Given the description of an element on the screen output the (x, y) to click on. 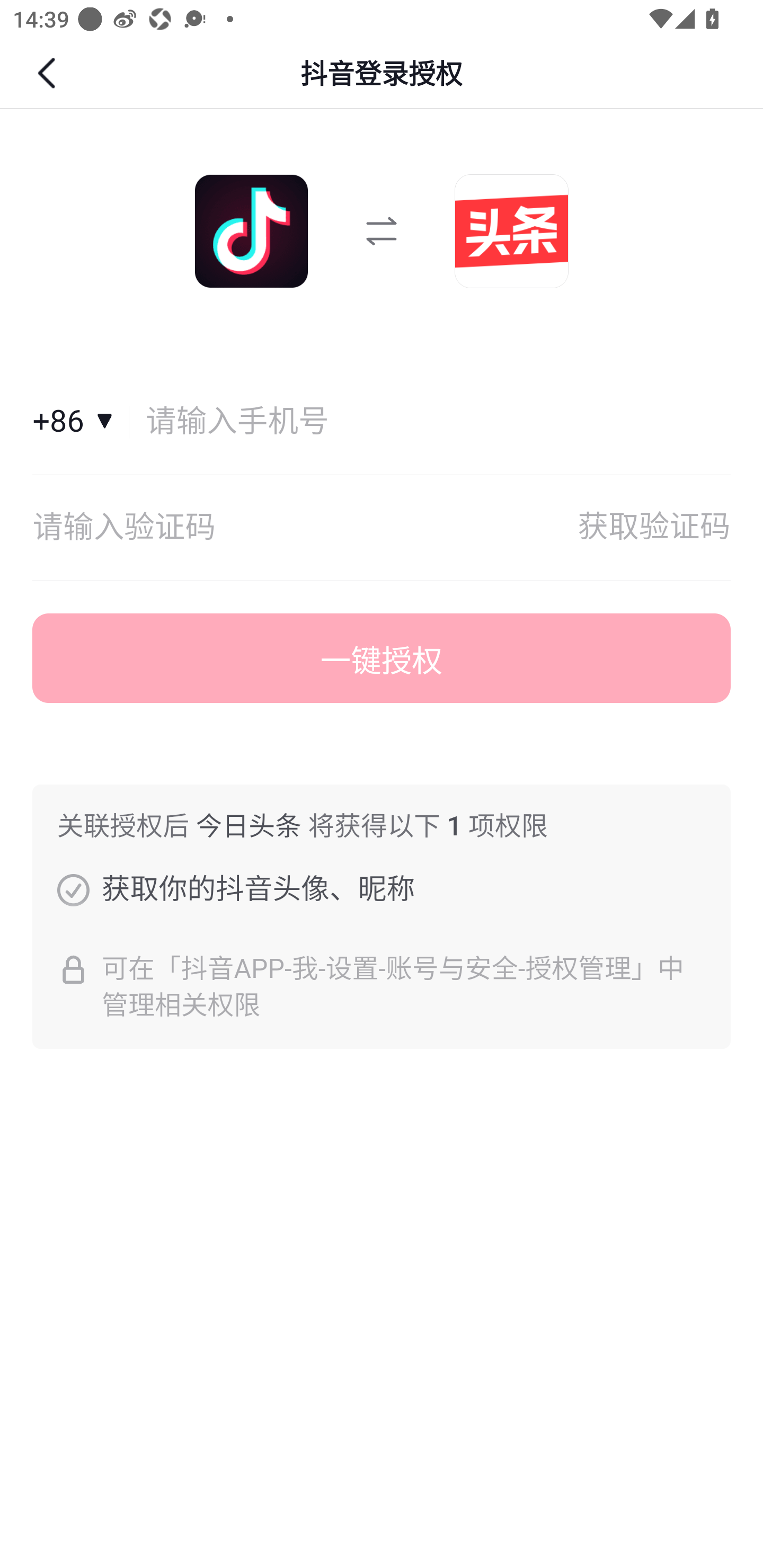
返回 (49, 72)
国家和地区+86 (81, 421)
获取验证码 (653, 527)
一键授权 (381, 658)
获取你的抖音头像、昵称 (72, 889)
